Given the description of an element on the screen output the (x, y) to click on. 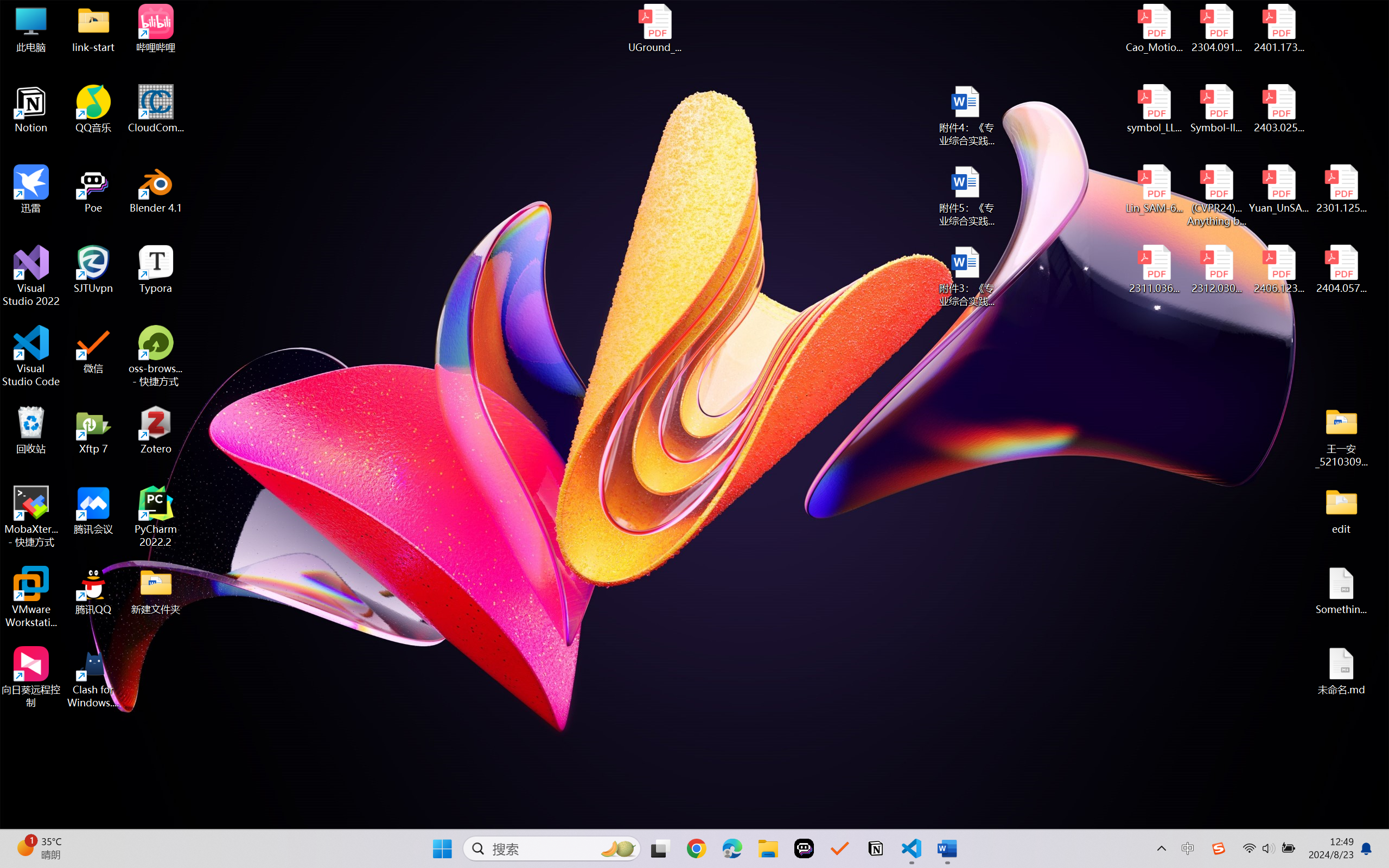
2403.02502v1.pdf (1278, 109)
symbol_LLM.pdf (1154, 109)
2304.09121v3.pdf (1216, 28)
2301.12597v3.pdf (1340, 189)
Visual Studio Code (31, 355)
